Given the description of an element on the screen output the (x, y) to click on. 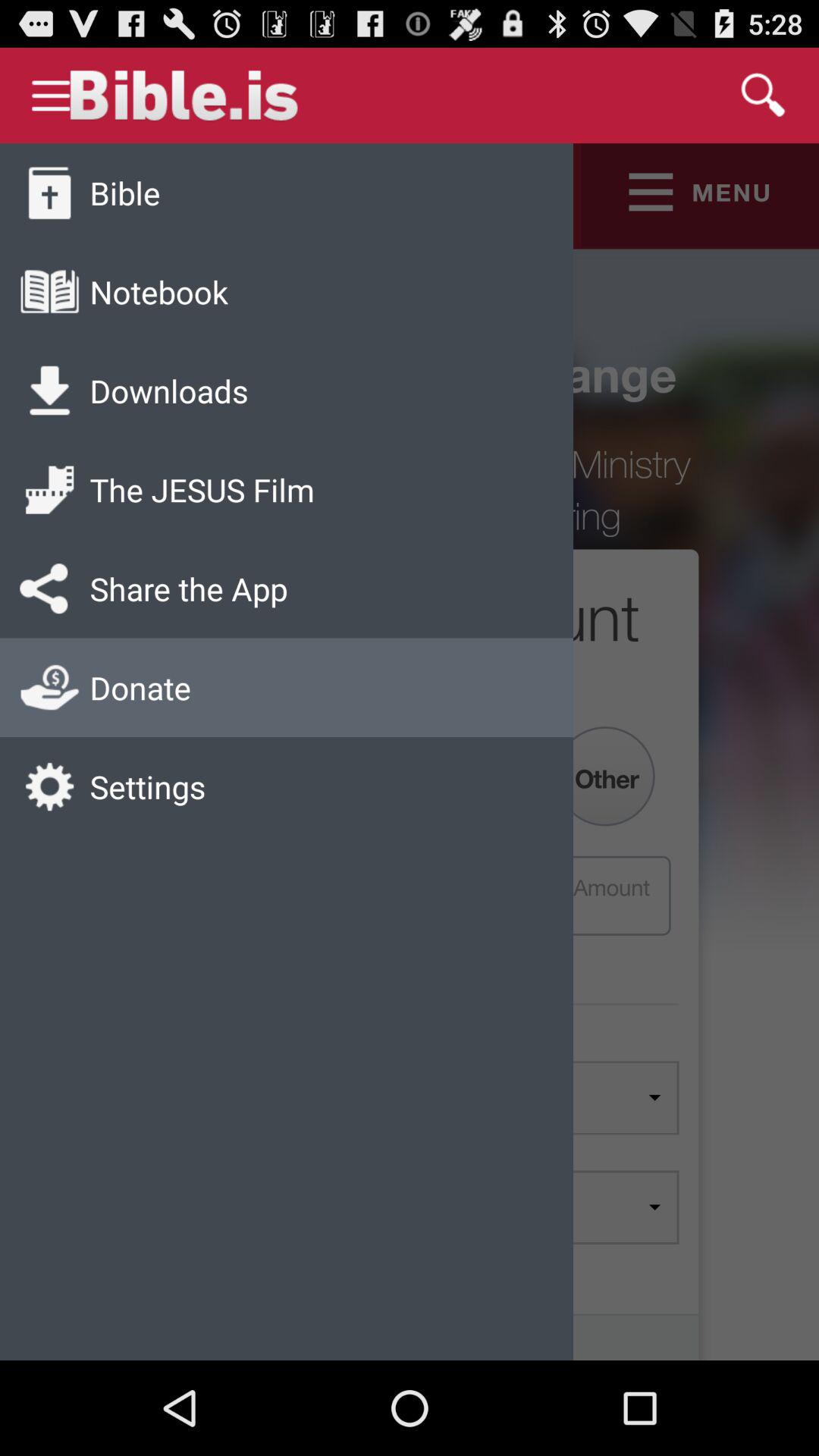
tap the app below bible icon (158, 291)
